Given the description of an element on the screen output the (x, y) to click on. 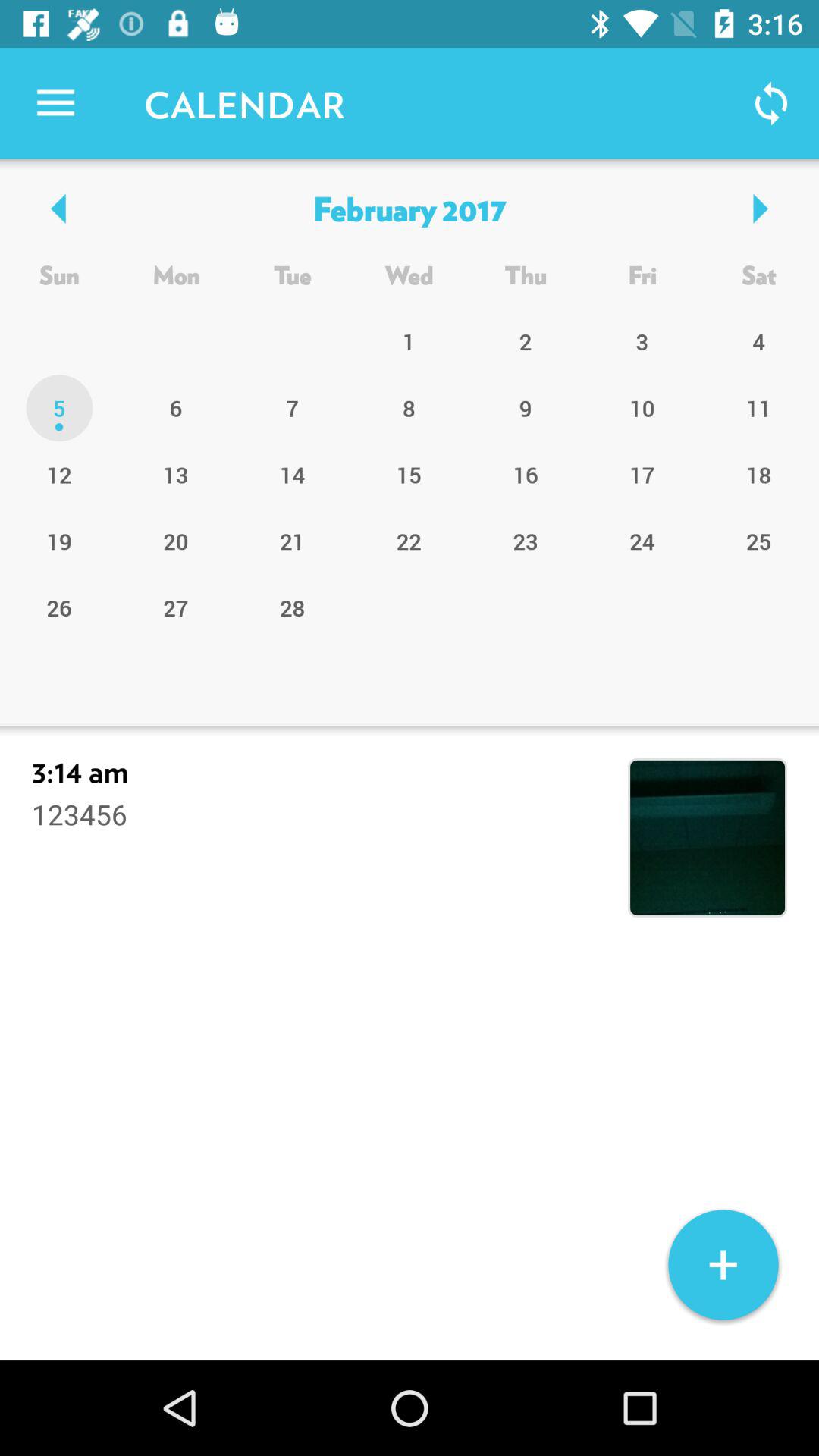
turn on icon above 23 (642, 474)
